Given the description of an element on the screen output the (x, y) to click on. 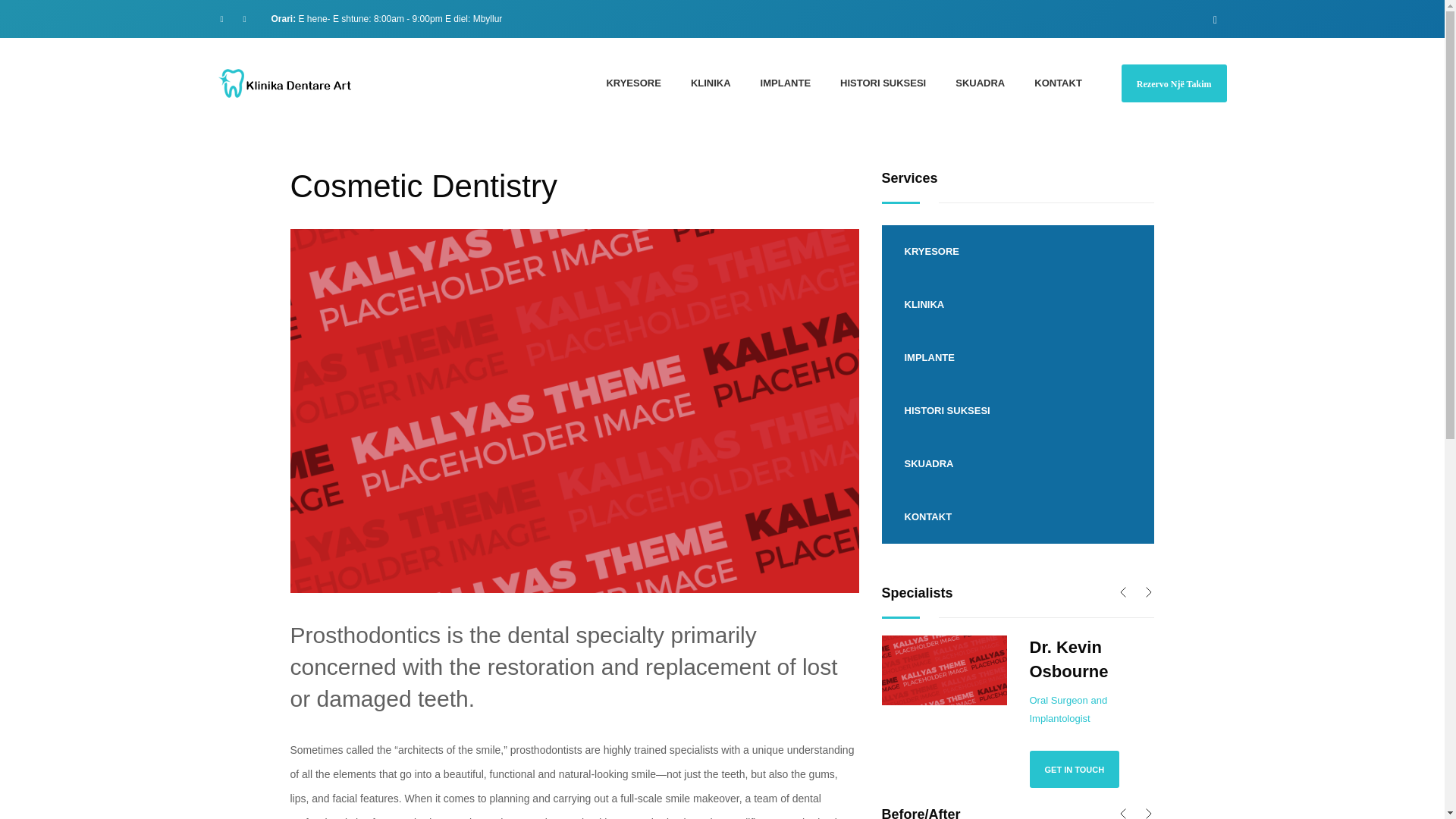
KONTAKT (1017, 516)
HISTORI SUKSESI (882, 83)
KLINIKA (710, 83)
HISTORI SUKSESI (1017, 410)
SKUADRA (979, 83)
Facebook (221, 18)
KRYESORE (632, 83)
IMPLANTE (1017, 357)
GET IN TOUCH (1074, 769)
KONTAKT (1057, 83)
Instagram (244, 18)
IMPLANTE (785, 83)
KLINIKA (1017, 304)
KRYESORE (1017, 251)
Click me (1074, 769)
